Given the description of an element on the screen output the (x, y) to click on. 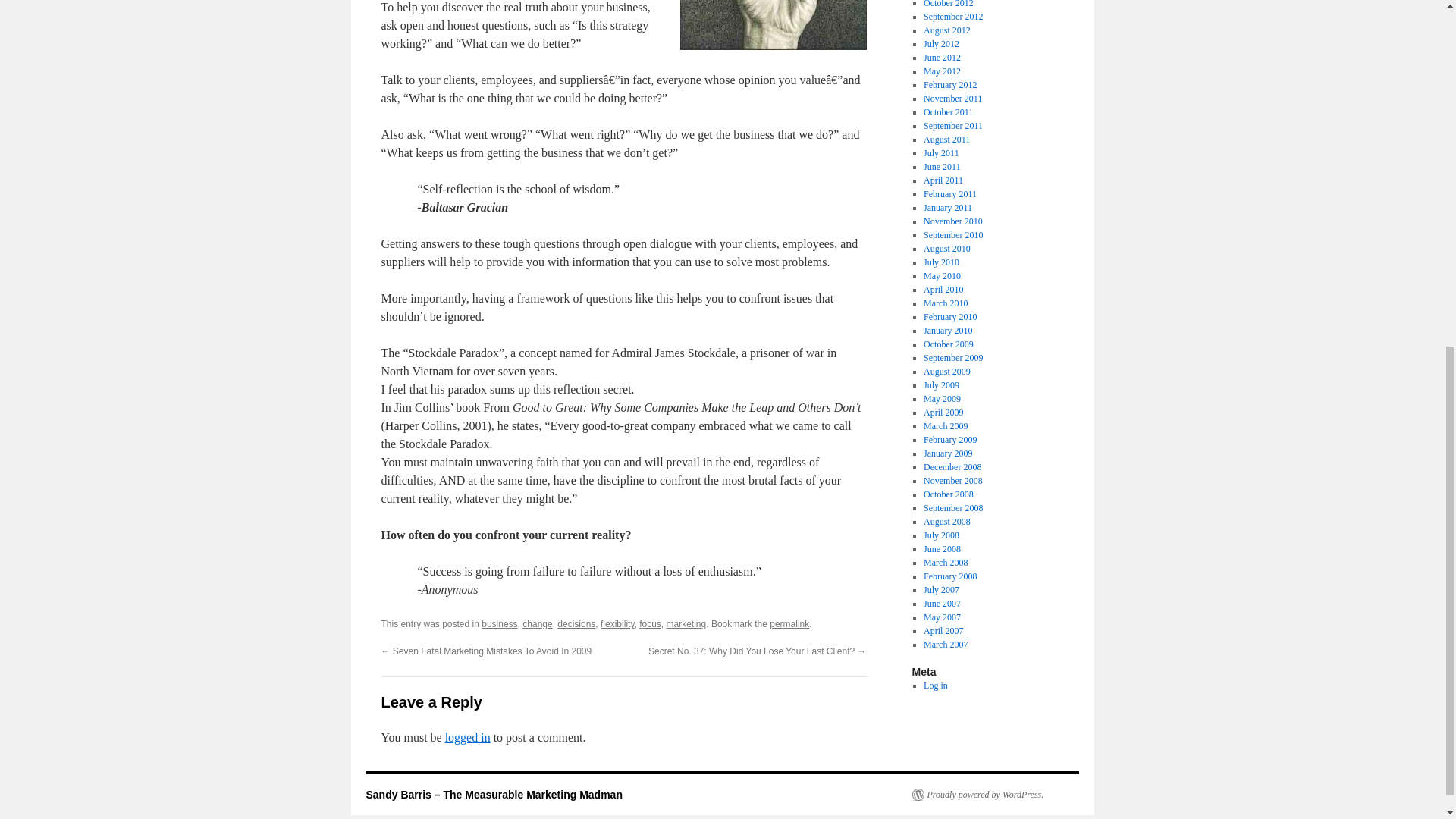
change (536, 624)
focus (650, 624)
escher-mirror (772, 24)
business (498, 624)
flexibility (616, 624)
logged in (467, 737)
decisions (576, 624)
Semantic Personal Publishing Platform (977, 794)
permalink (789, 624)
marketing (686, 624)
